Given the description of an element on the screen output the (x, y) to click on. 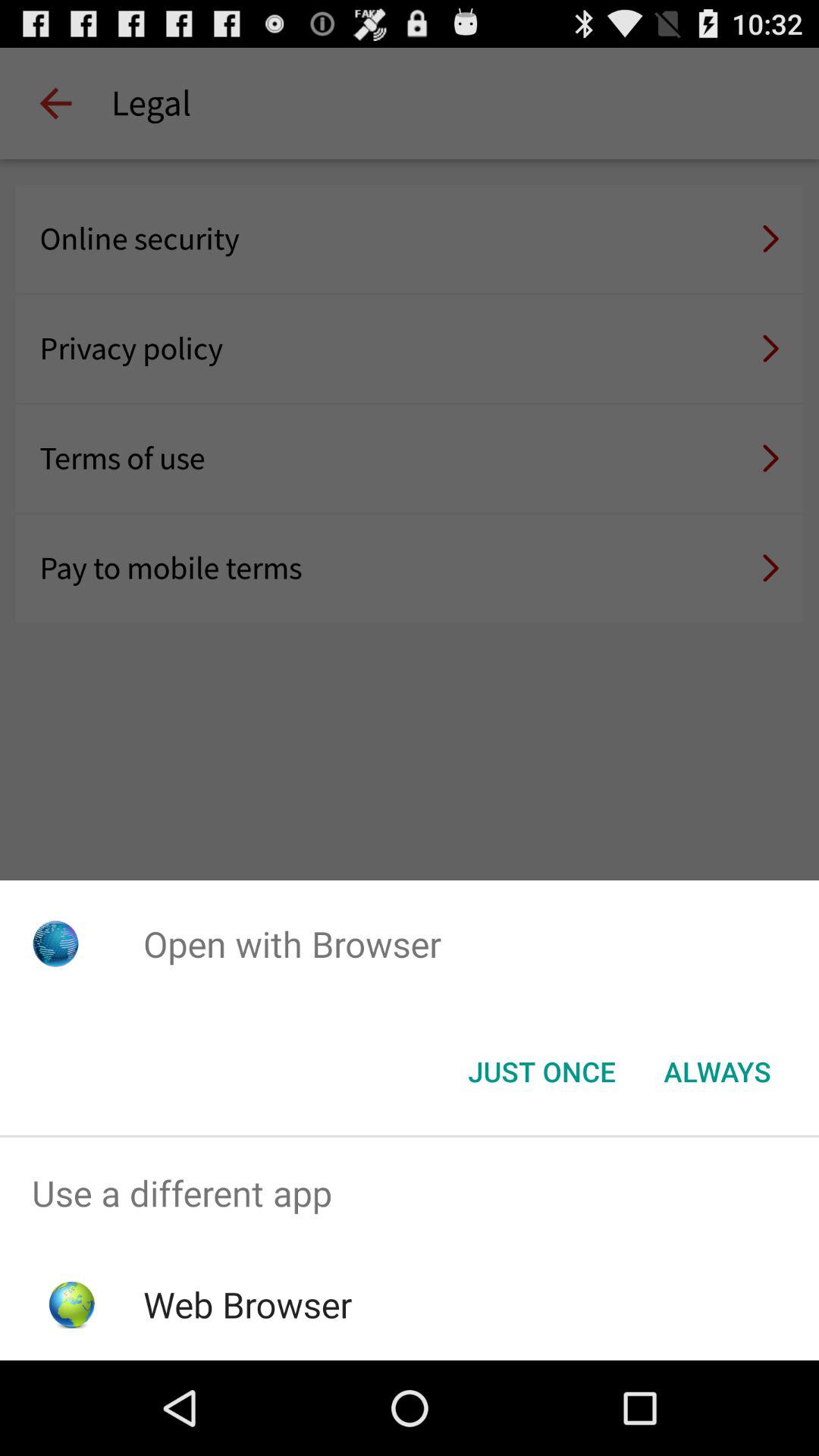
launch always item (717, 1071)
